Given the description of an element on the screen output the (x, y) to click on. 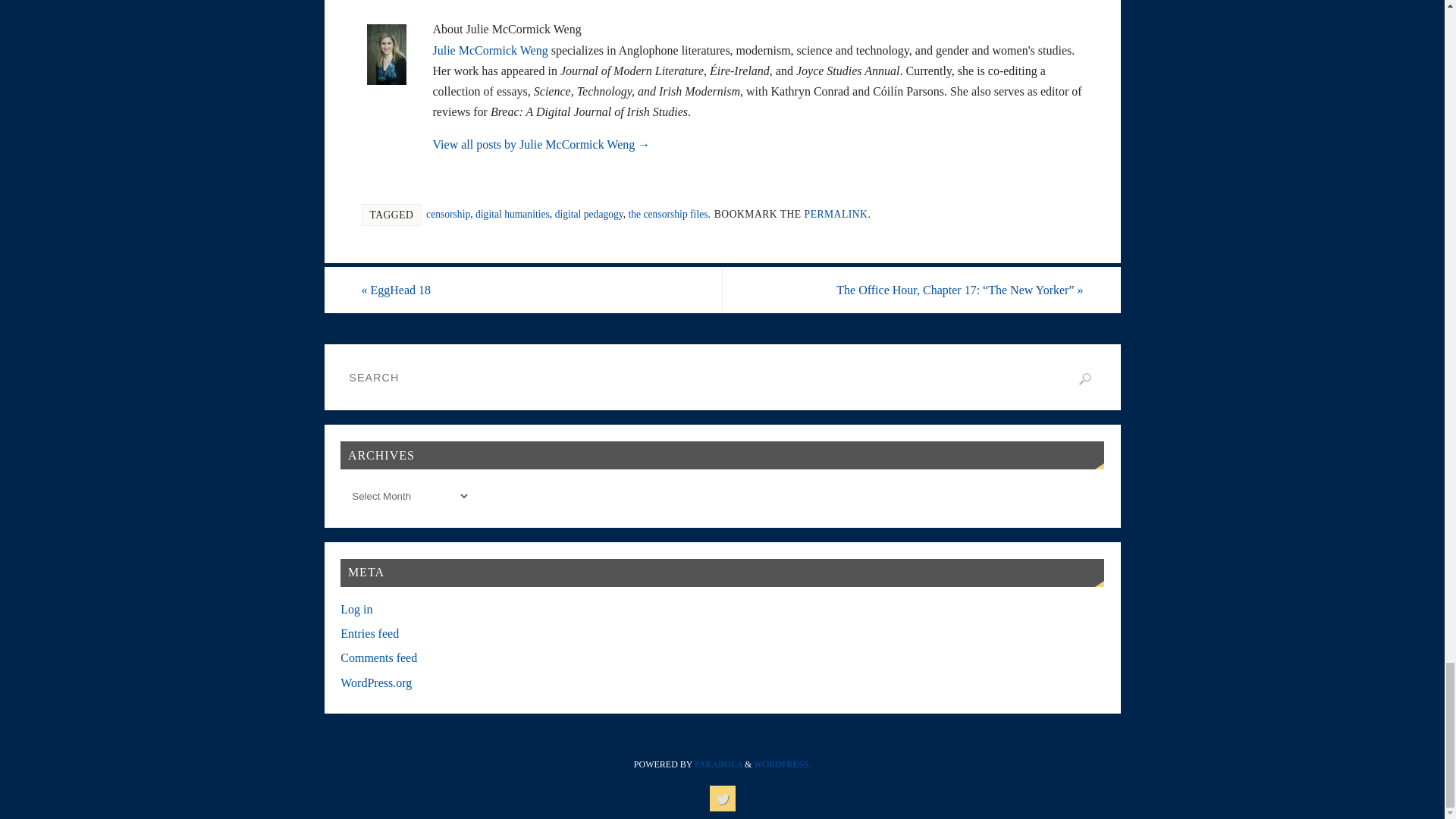
Twitter (722, 798)
Semantic Personal Publishing Platform (782, 764)
Parabola Theme by Cryout Creations (718, 764)
